Given the description of an element on the screen output the (x, y) to click on. 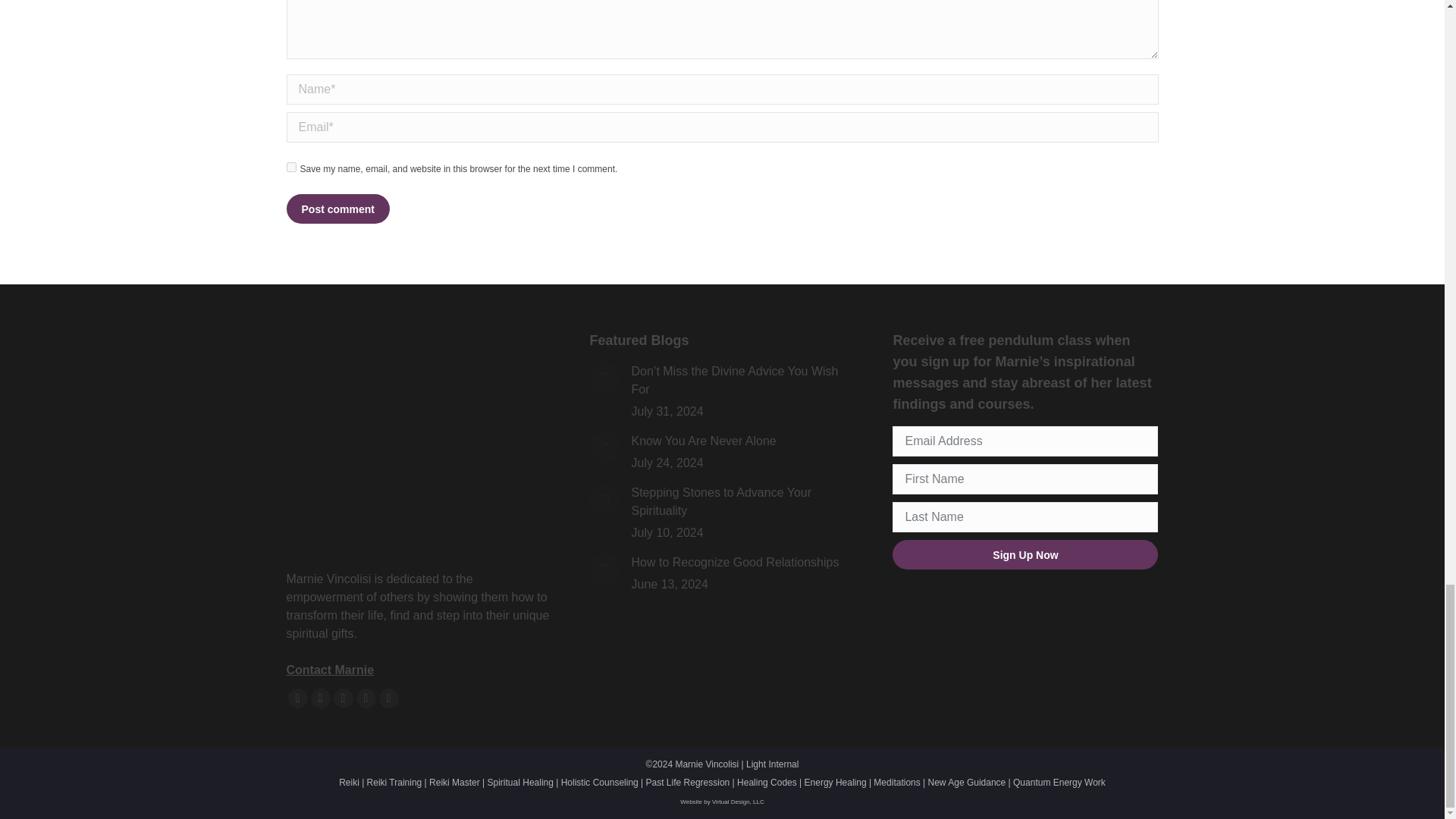
Sign Up Now (1024, 554)
First Name (1024, 479)
Email Address (1024, 440)
Last Name (1024, 517)
yes (291, 166)
